Given the description of an element on the screen output the (x, y) to click on. 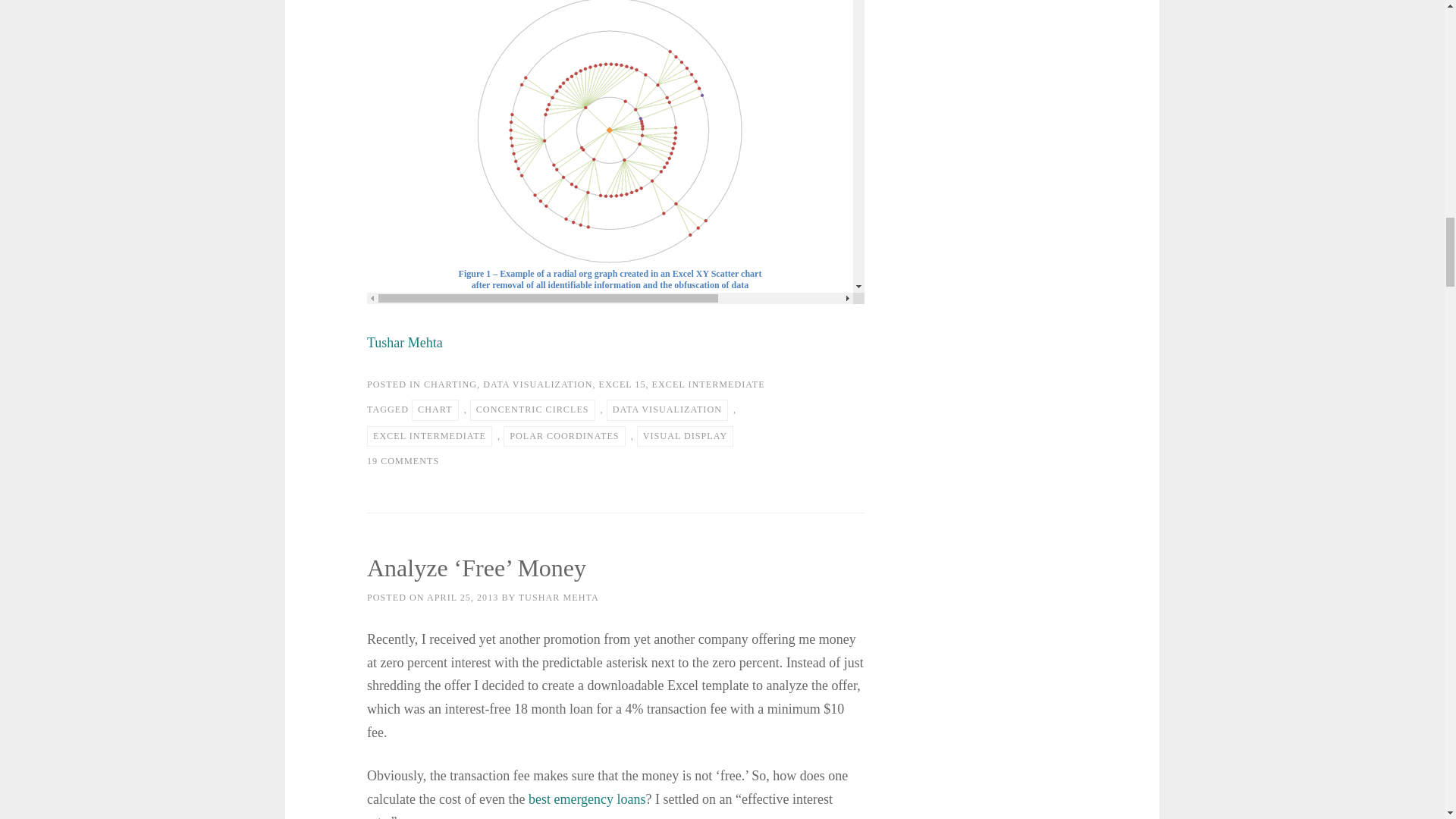
DATA VISUALIZATION (537, 384)
Tushar Mehta (404, 342)
CHARTING (450, 384)
EXCEL INTERMEDIATE (708, 384)
CHART (435, 409)
EXCEL 15 (622, 384)
